Given the description of an element on the screen output the (x, y) to click on. 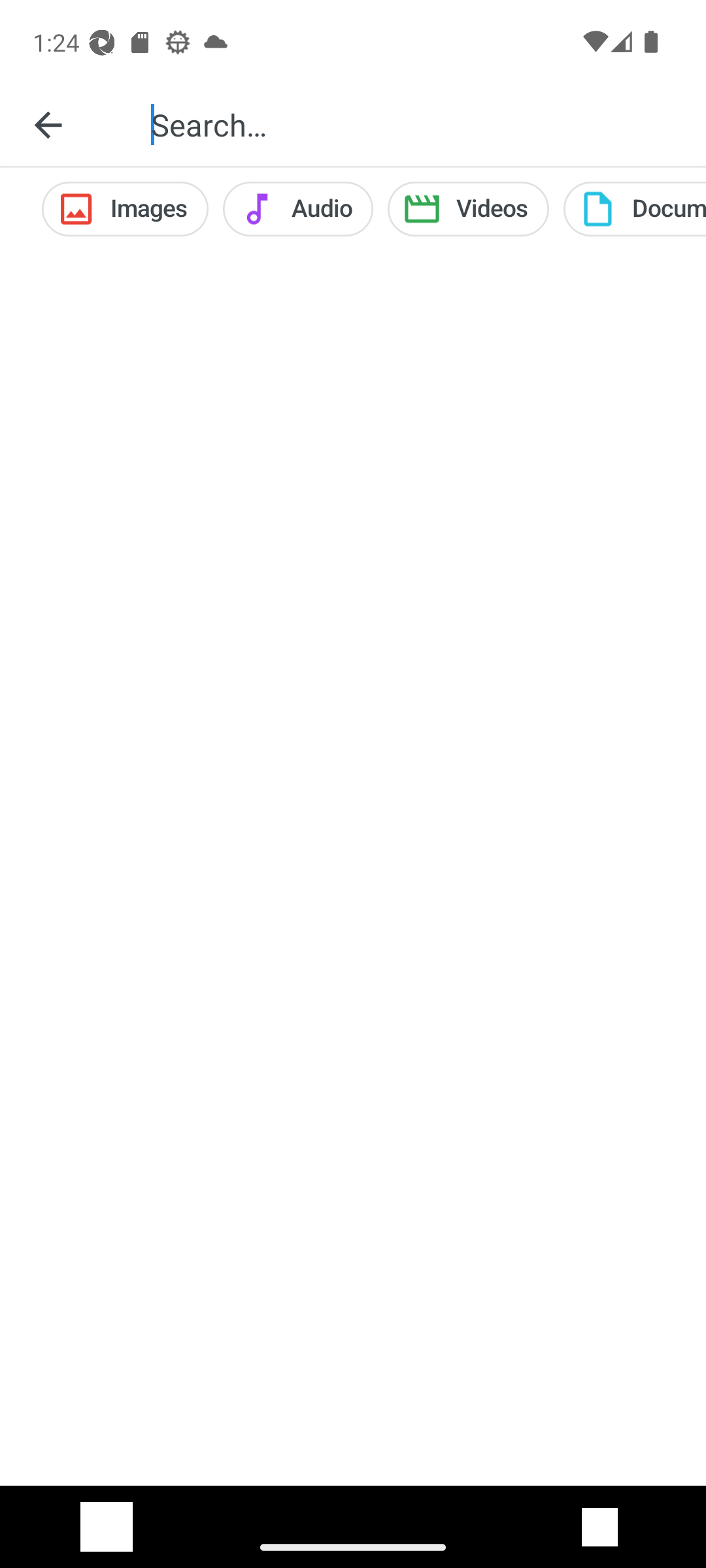
Back (48, 124)
Search… (414, 124)
Images (124, 208)
Audio (298, 208)
Videos (468, 208)
Documents (634, 208)
